Given the description of an element on the screen output the (x, y) to click on. 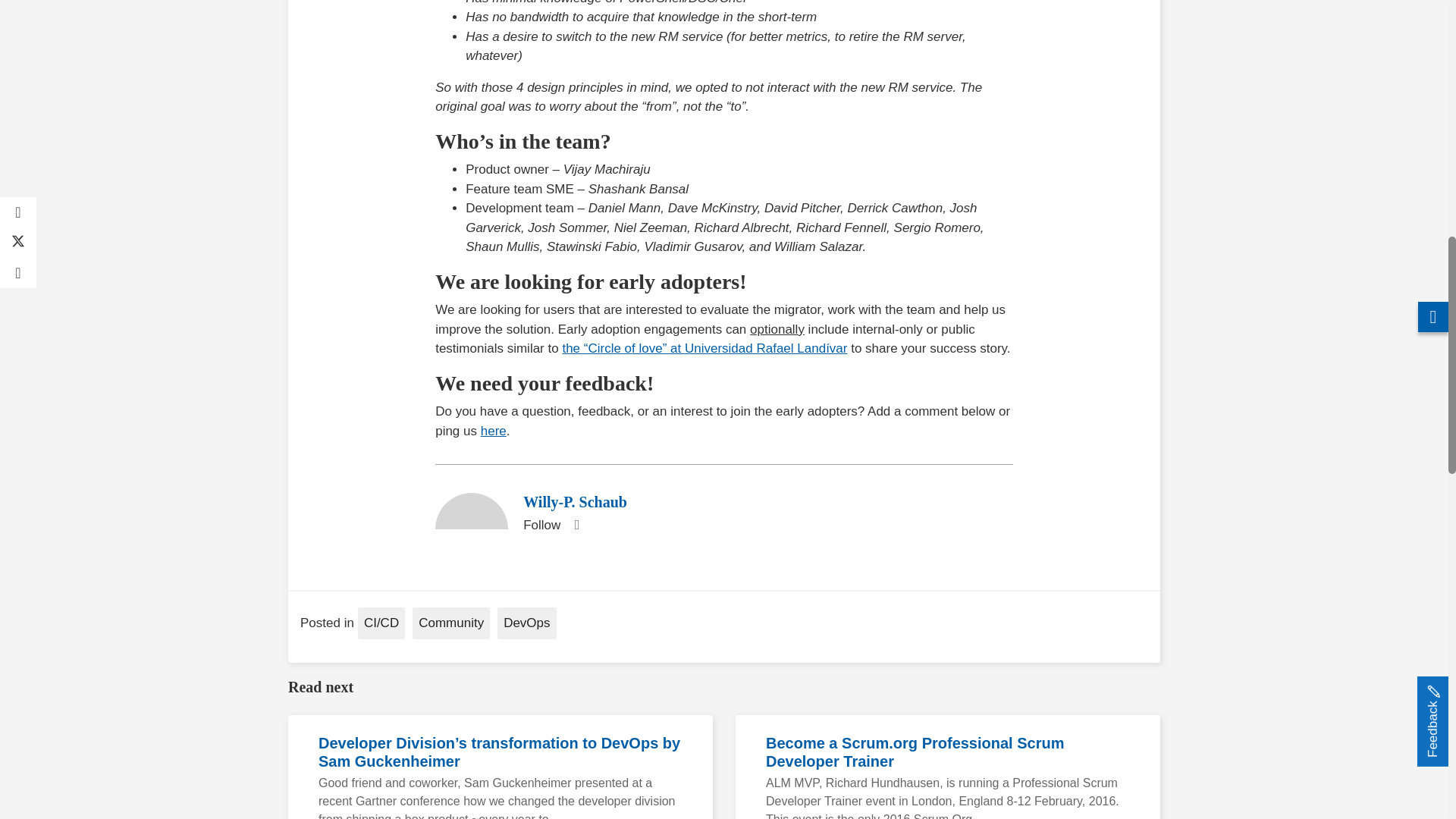
RSS Feed (576, 525)
